Given the description of an element on the screen output the (x, y) to click on. 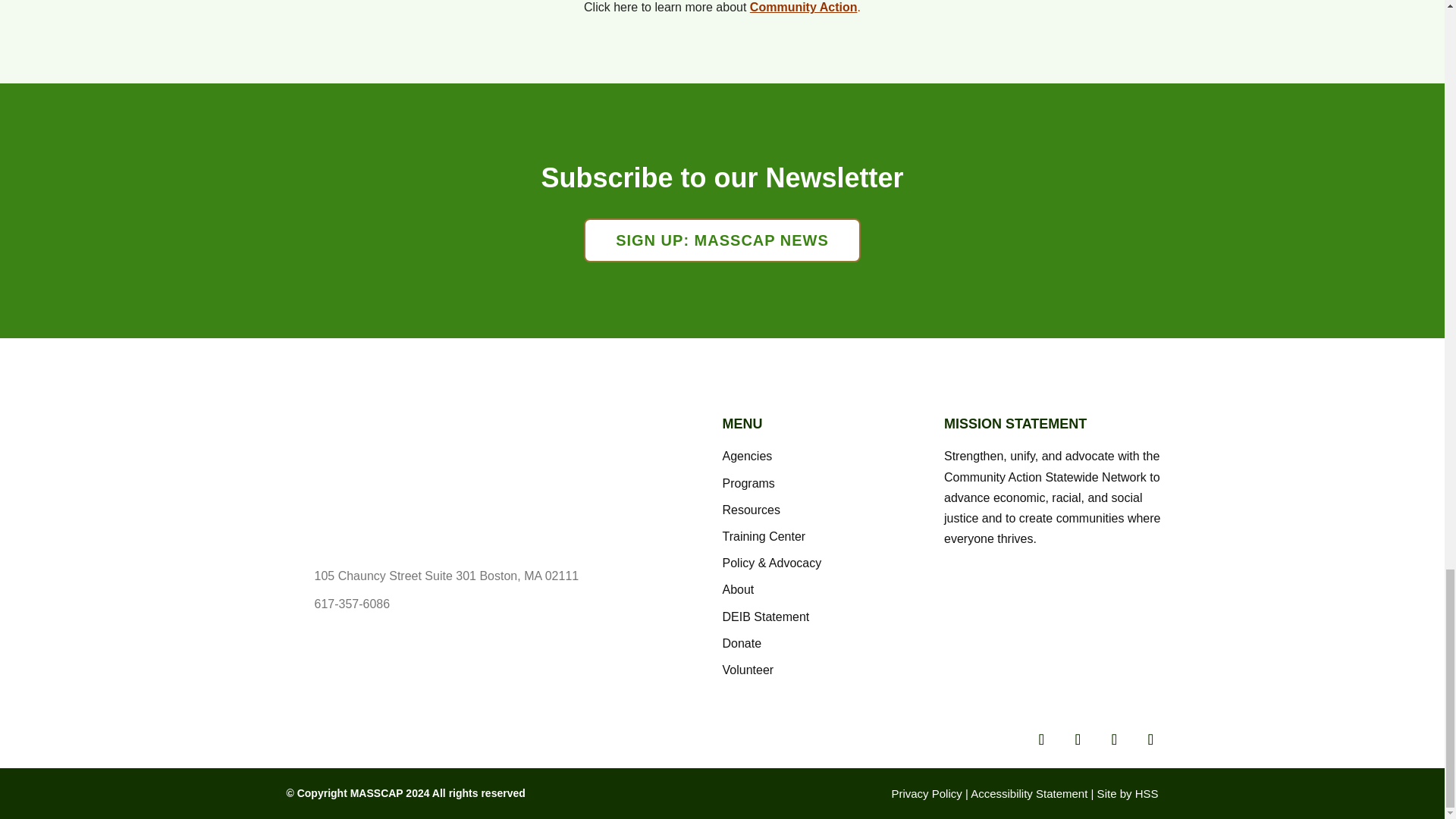
Follow on LinkedIn (1114, 738)
Follow on Youtube (1150, 738)
Follow on Facebook (1041, 738)
Follow on X (1077, 738)
